Given the description of an element on the screen output the (x, y) to click on. 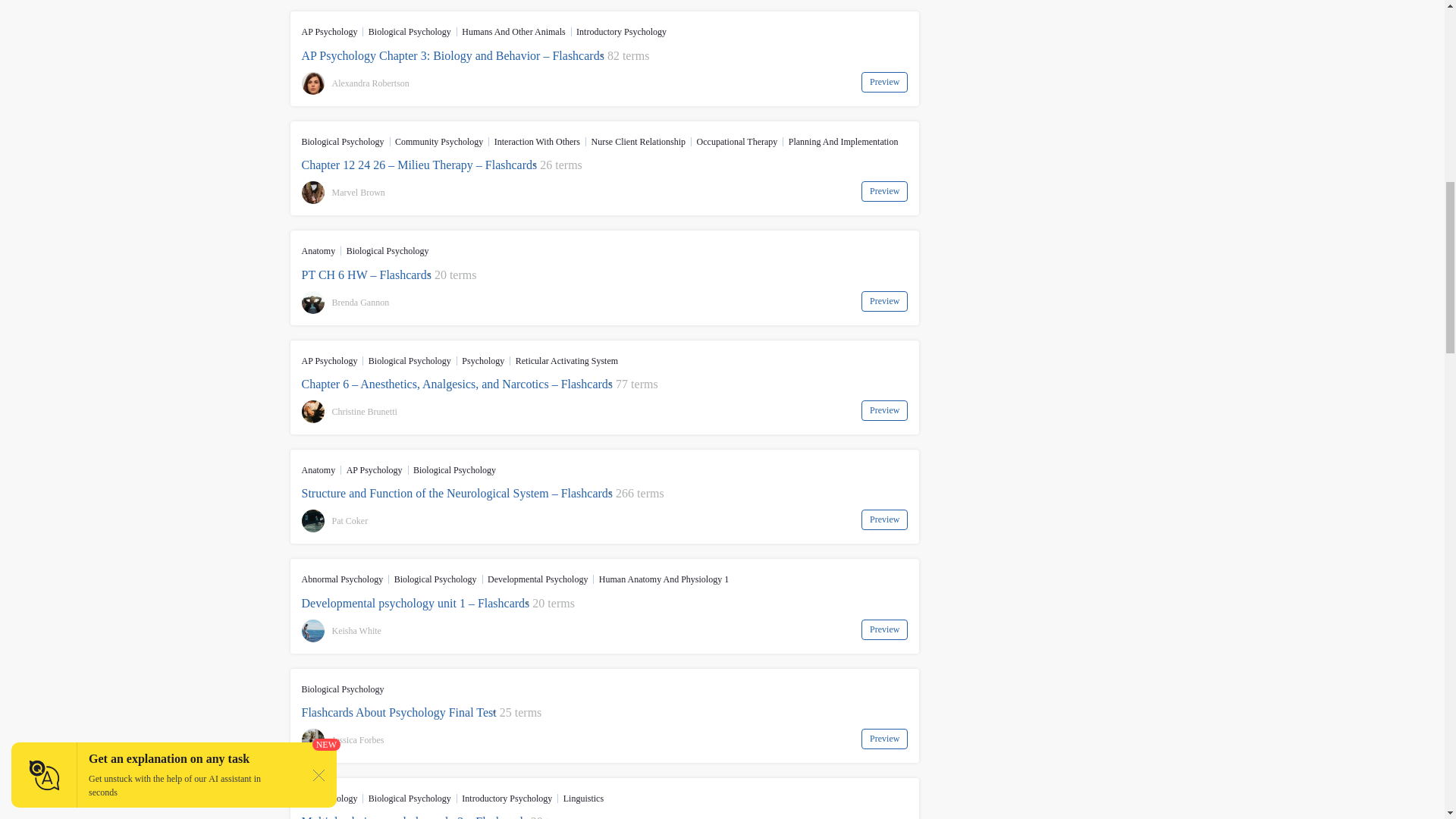
Flashcards About Psychology Final Test 25 terms (604, 712)
